Given the description of an element on the screen output the (x, y) to click on. 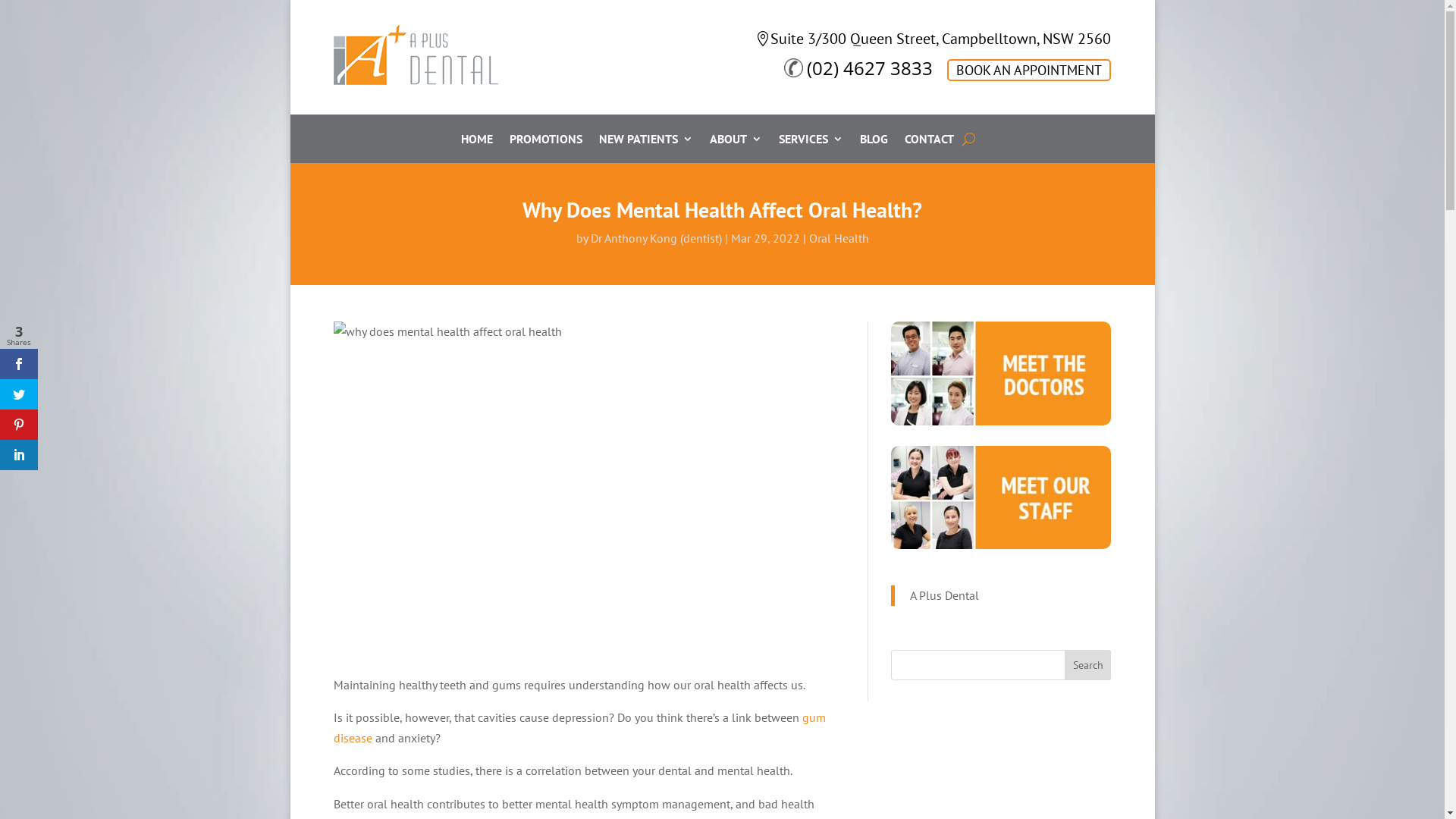
(02) 4627 3833 Element type: text (858, 67)
A Plus Dental Logo Element type: hover (415, 54)
NEW PATIENTS Element type: text (646, 141)
SERVICES Element type: text (810, 141)
gum disease Element type: text (579, 727)
Suite 3/300 Queen Street, Campbelltown, NSW 2560 Element type: text (932, 38)
BLOG Element type: text (873, 141)
Oral Health Element type: text (838, 237)
HOME Element type: text (476, 141)
PROMOTIONS Element type: text (545, 141)
A Plus Dental Element type: text (944, 594)
CONTACT Element type: text (928, 141)
Dr Anthony Kong (dentist) Element type: text (655, 237)
Search Element type: text (1087, 664)
ABOUT Element type: text (735, 141)
BOOK AN APPOINTMENT Element type: text (1028, 70)
